Given the description of an element on the screen output the (x, y) to click on. 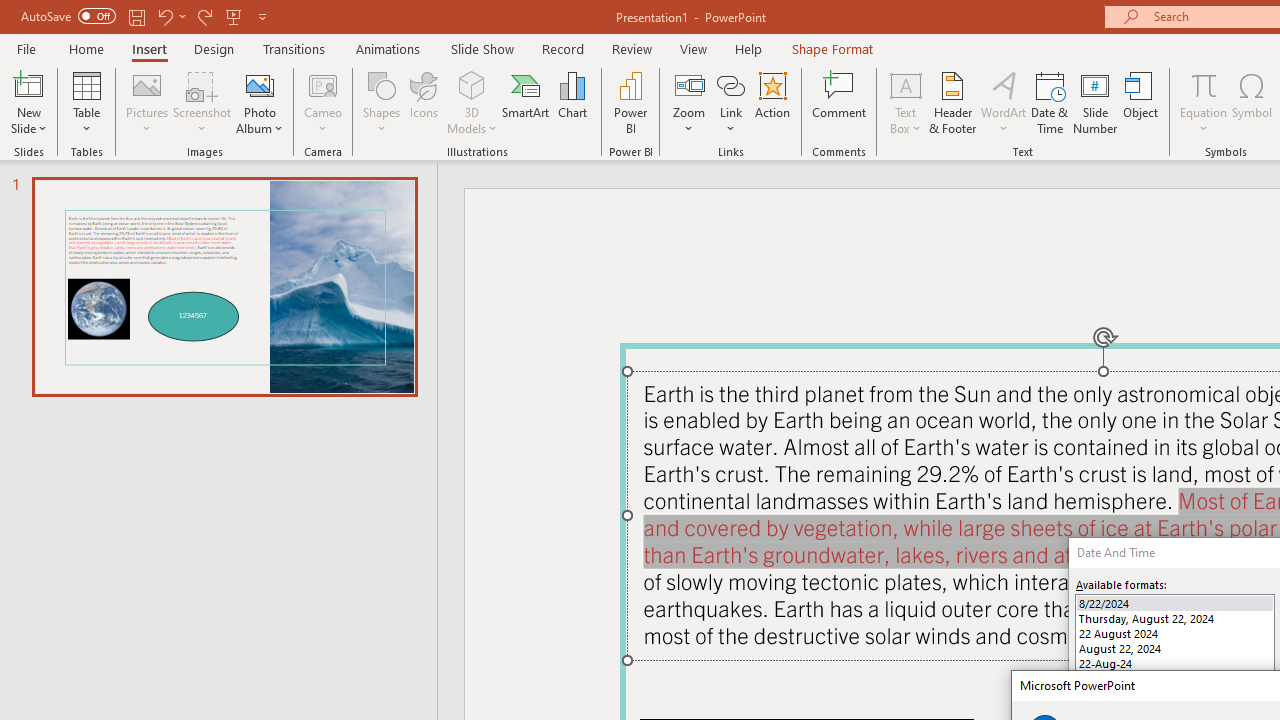
Text Box (905, 102)
Chart... (572, 102)
August 22, 2024 (1174, 647)
Comment (839, 102)
Design (214, 48)
File Tab (26, 48)
Photo Album... (259, 102)
Cameo (323, 84)
Link (731, 84)
New Slide (28, 102)
Shape Format (832, 48)
Symbol... (1252, 102)
Icons (424, 102)
Draw Horizontal Text Box (905, 84)
